Given the description of an element on the screen output the (x, y) to click on. 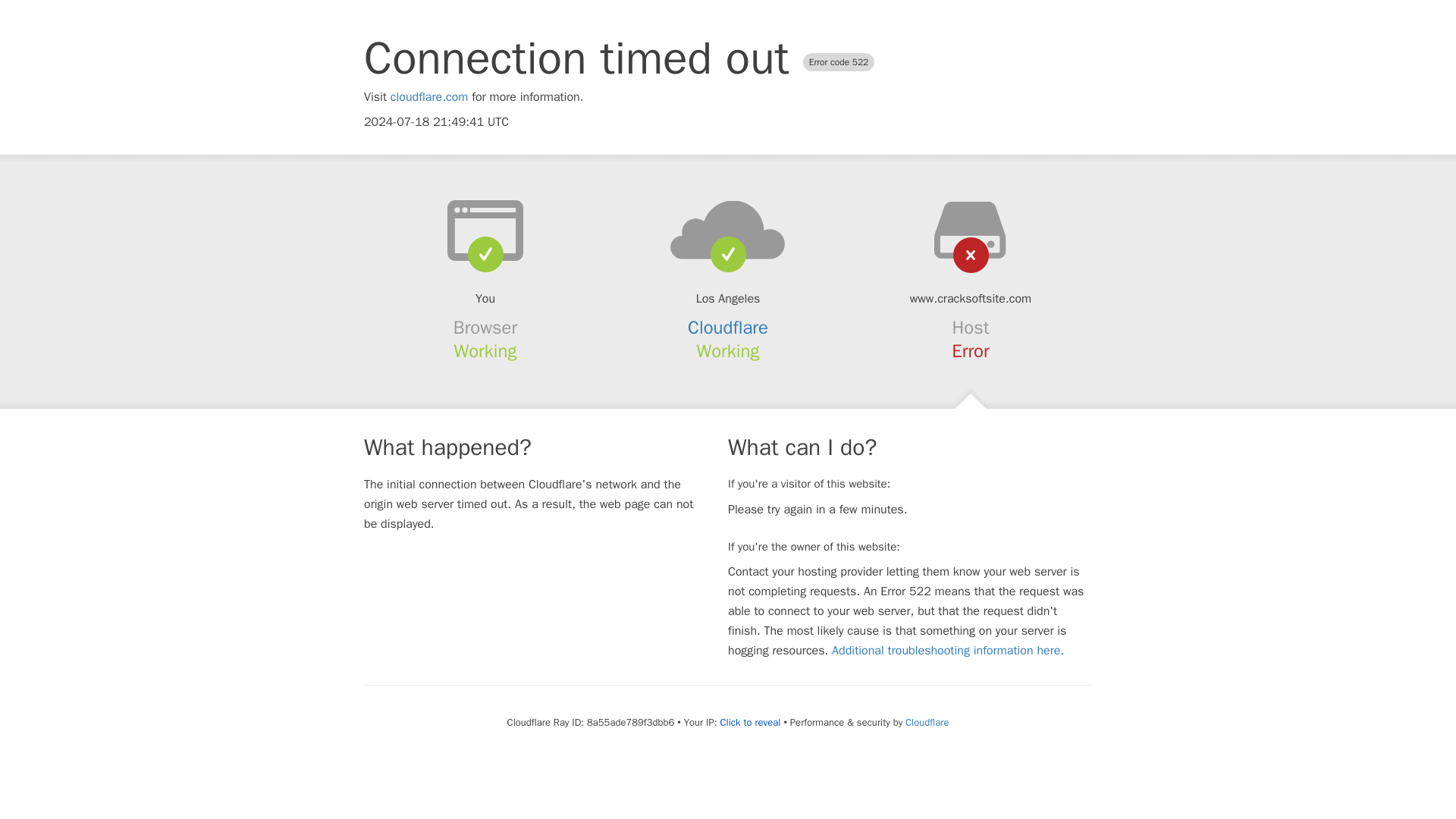
cloudflare.com (429, 96)
Additional troubleshooting information here. (947, 650)
Cloudflare (927, 721)
Click to reveal (750, 722)
Cloudflare (727, 327)
